Given the description of an element on the screen output the (x, y) to click on. 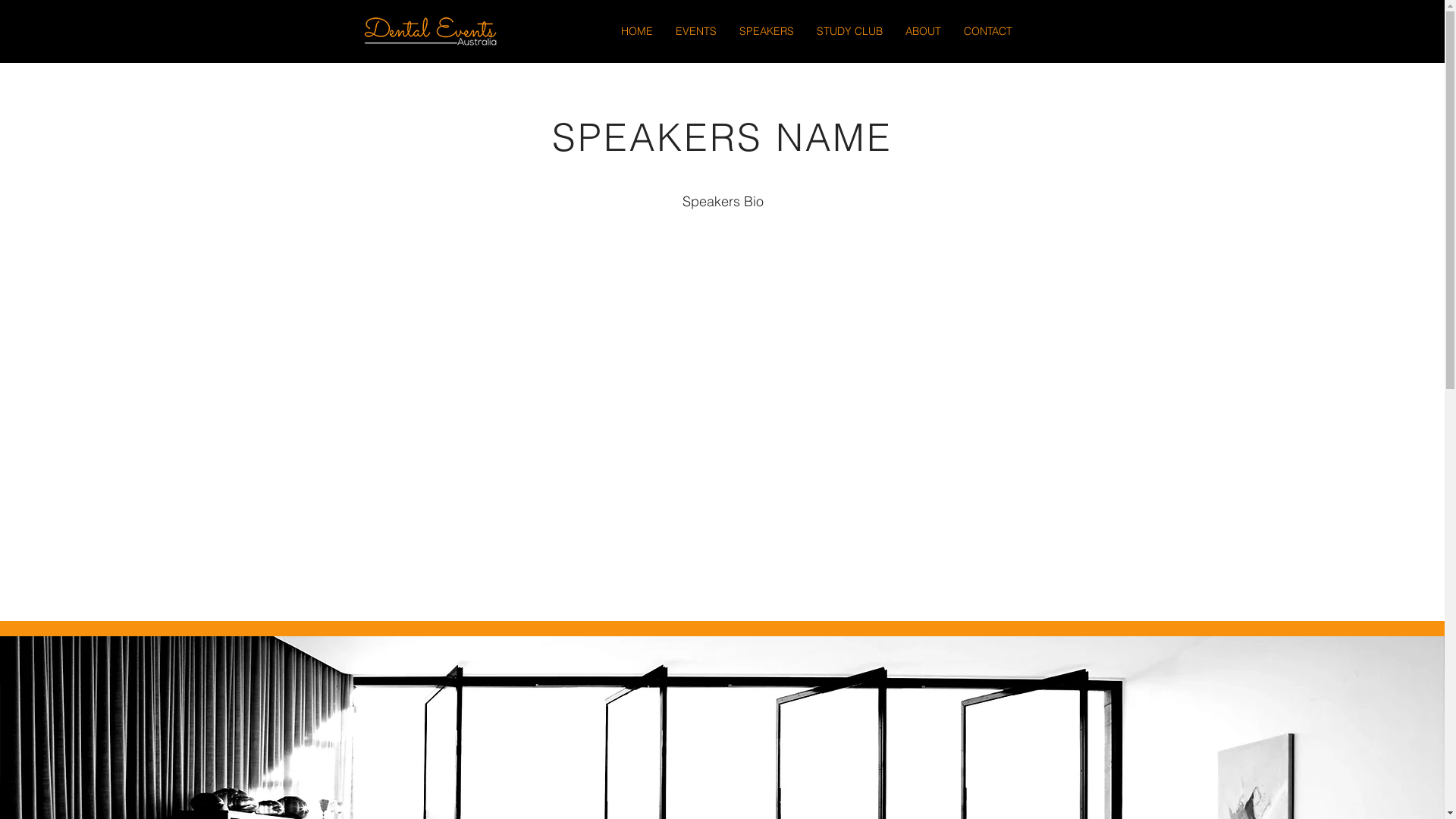
HOME Element type: text (636, 31)
SPEAKERS Element type: text (766, 31)
STUDY CLUB Element type: text (849, 31)
ABOUT Element type: text (922, 31)
EVENTS Element type: text (696, 31)
CONTACT Element type: text (987, 31)
